Given the description of an element on the screen output the (x, y) to click on. 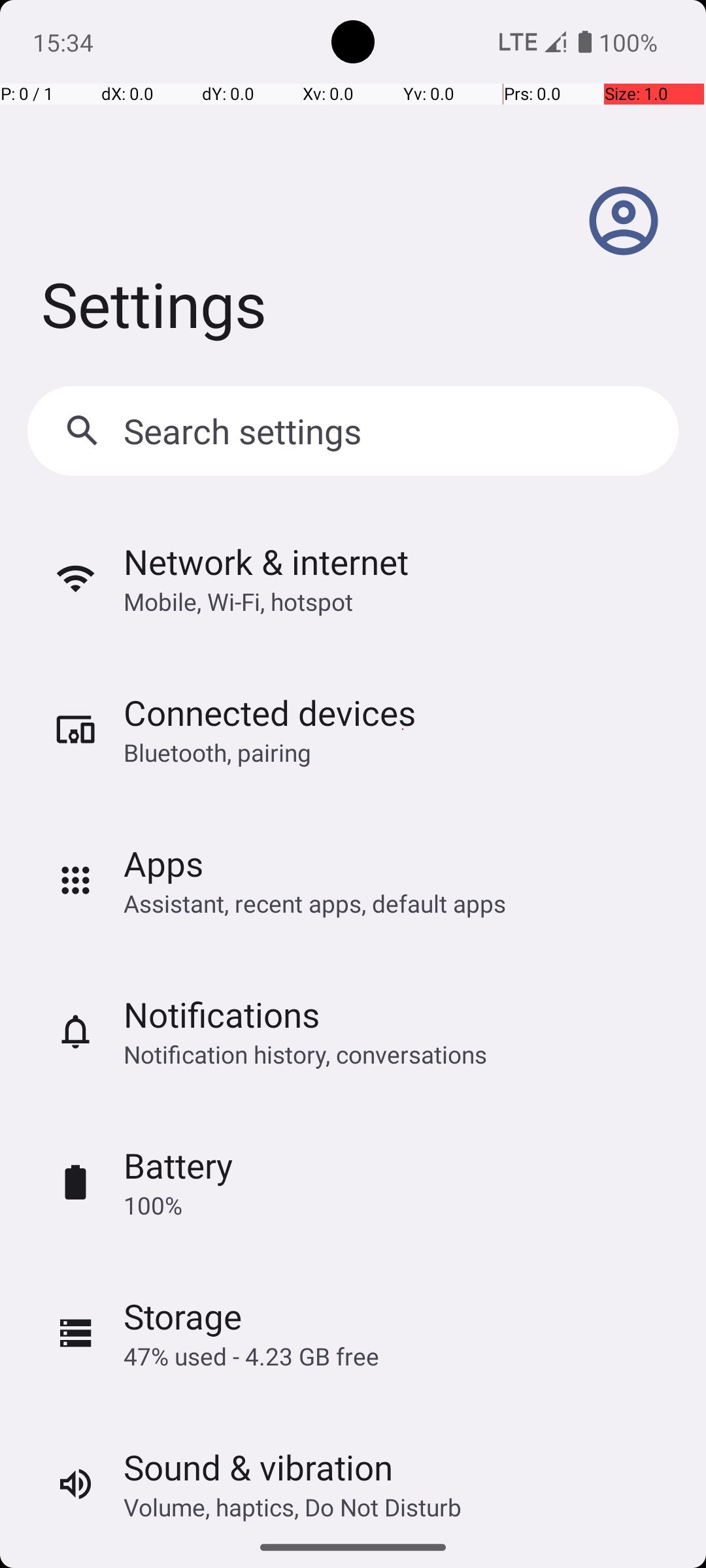
47% used - 4.23 GB free Element type: android.widget.TextView (251, 1355)
